Given the description of an element on the screen output the (x, y) to click on. 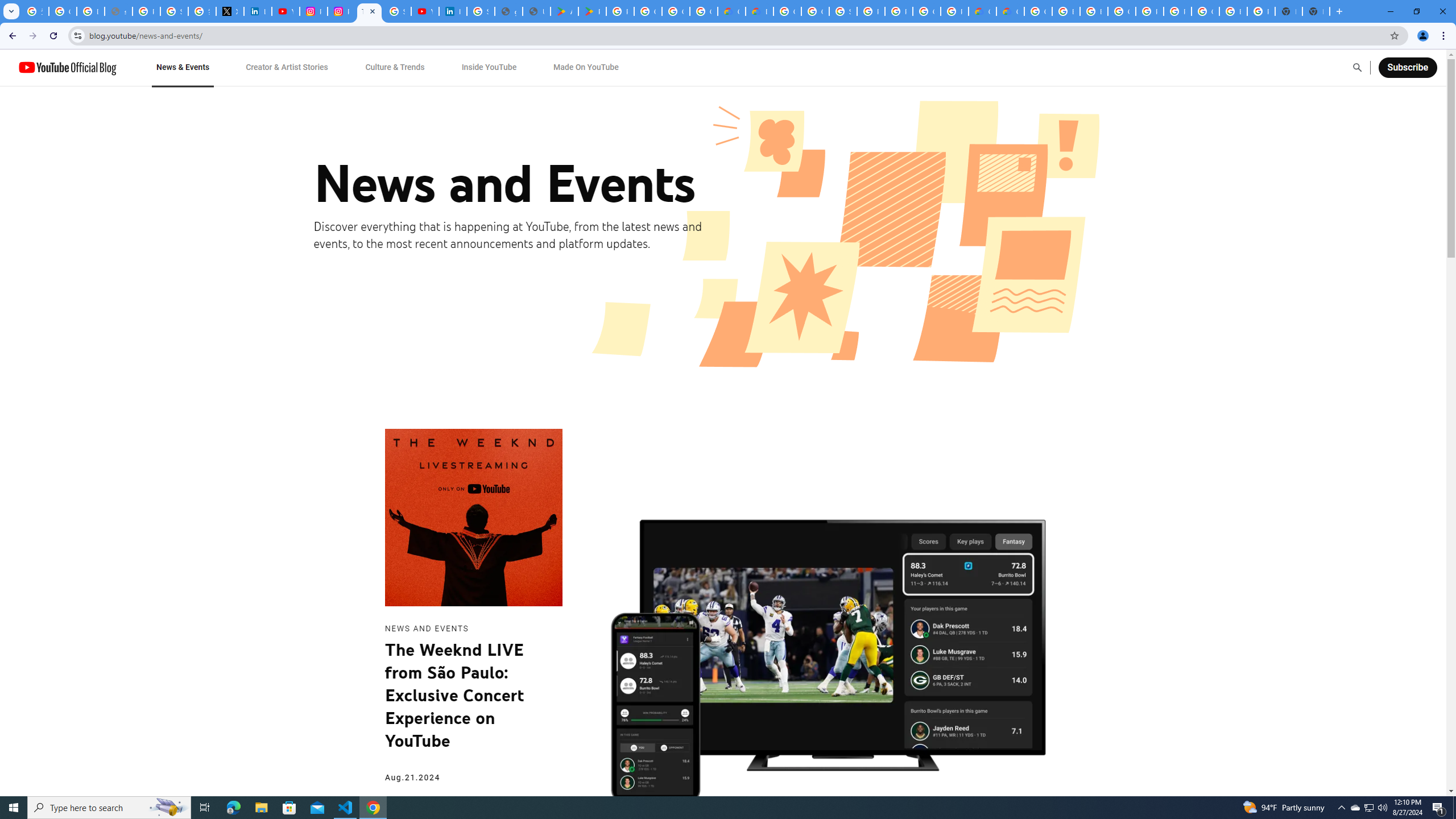
Made On YouTube (585, 67)
Google Workspace - Specific Terms (675, 11)
Sign in - Google Accounts (842, 11)
User Details (536, 11)
Customer Care | Google Cloud (731, 11)
